Given the description of an element on the screen output the (x, y) to click on. 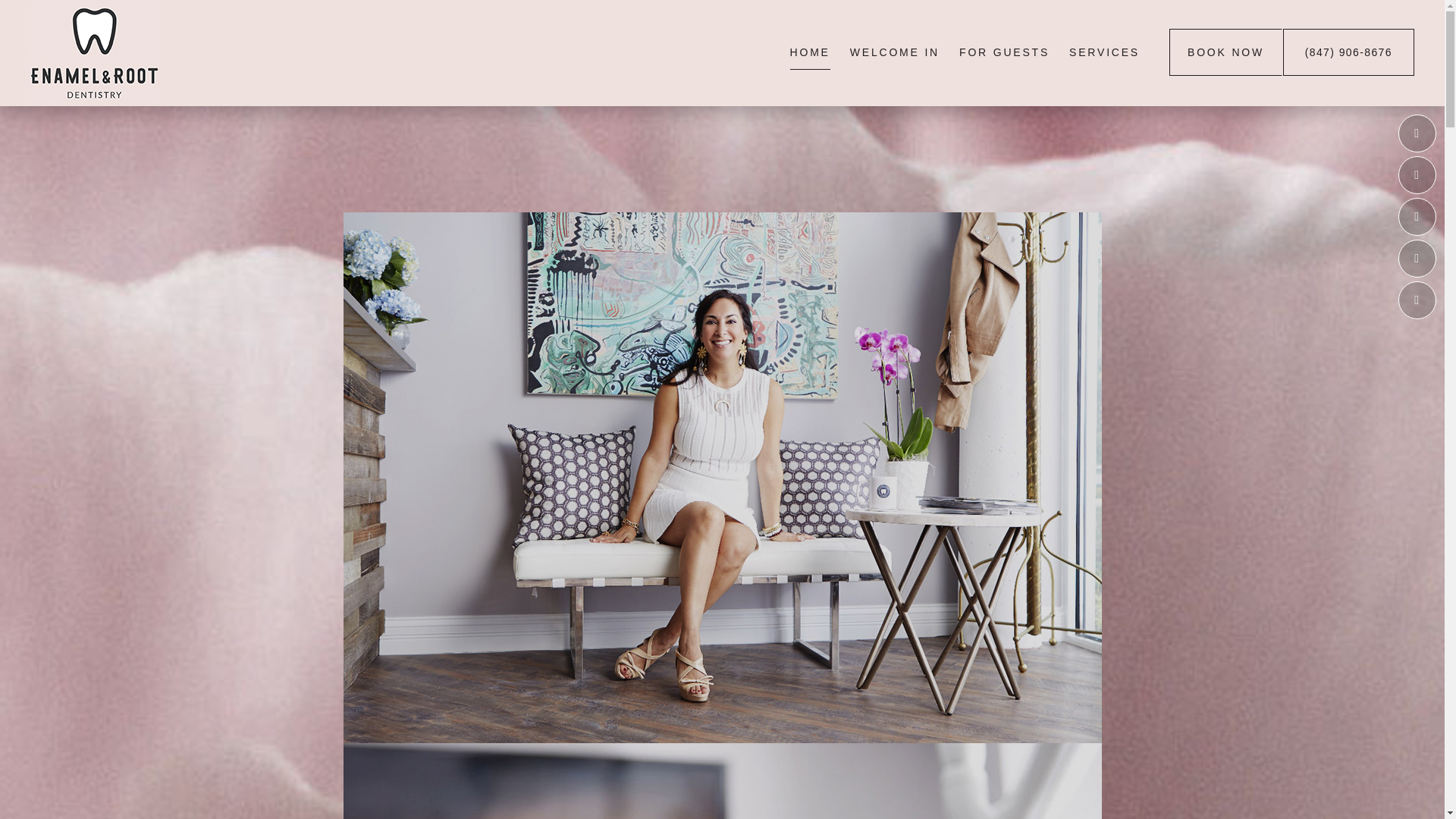
HOME (809, 51)
WELCOME IN (894, 51)
BOOK NOW (1225, 51)
FOR GUESTS (1004, 51)
SERVICES (1104, 51)
